Given the description of an element on the screen output the (x, y) to click on. 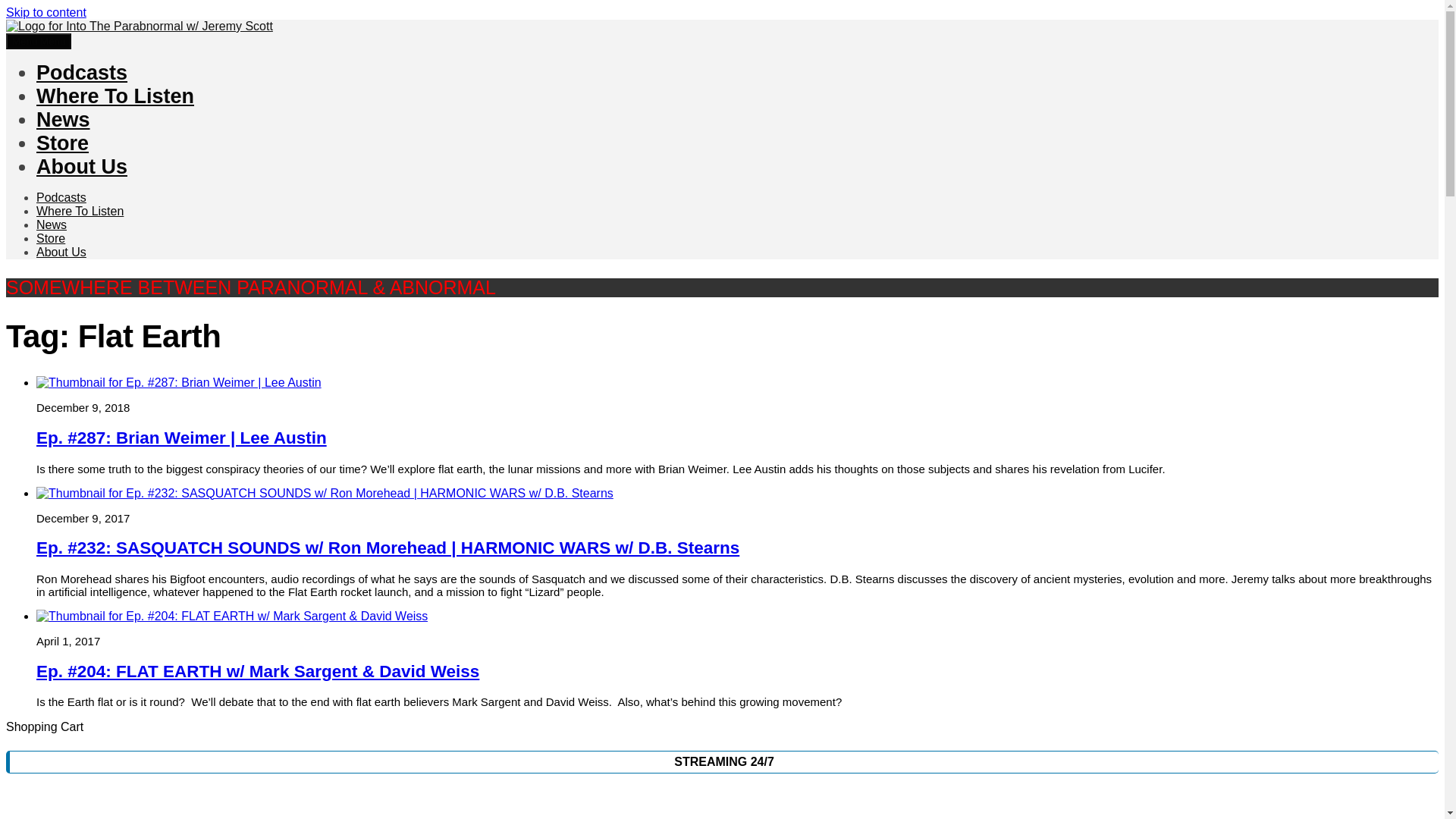
Podcasts (60, 196)
News (51, 224)
Store (62, 142)
Store (50, 237)
Where To Listen (79, 210)
About Us (60, 251)
About Us (82, 166)
News (63, 119)
Where To Listen (114, 96)
Skip to content (45, 11)
Menu Menu (38, 41)
Podcasts (82, 72)
